Given the description of an element on the screen output the (x, y) to click on. 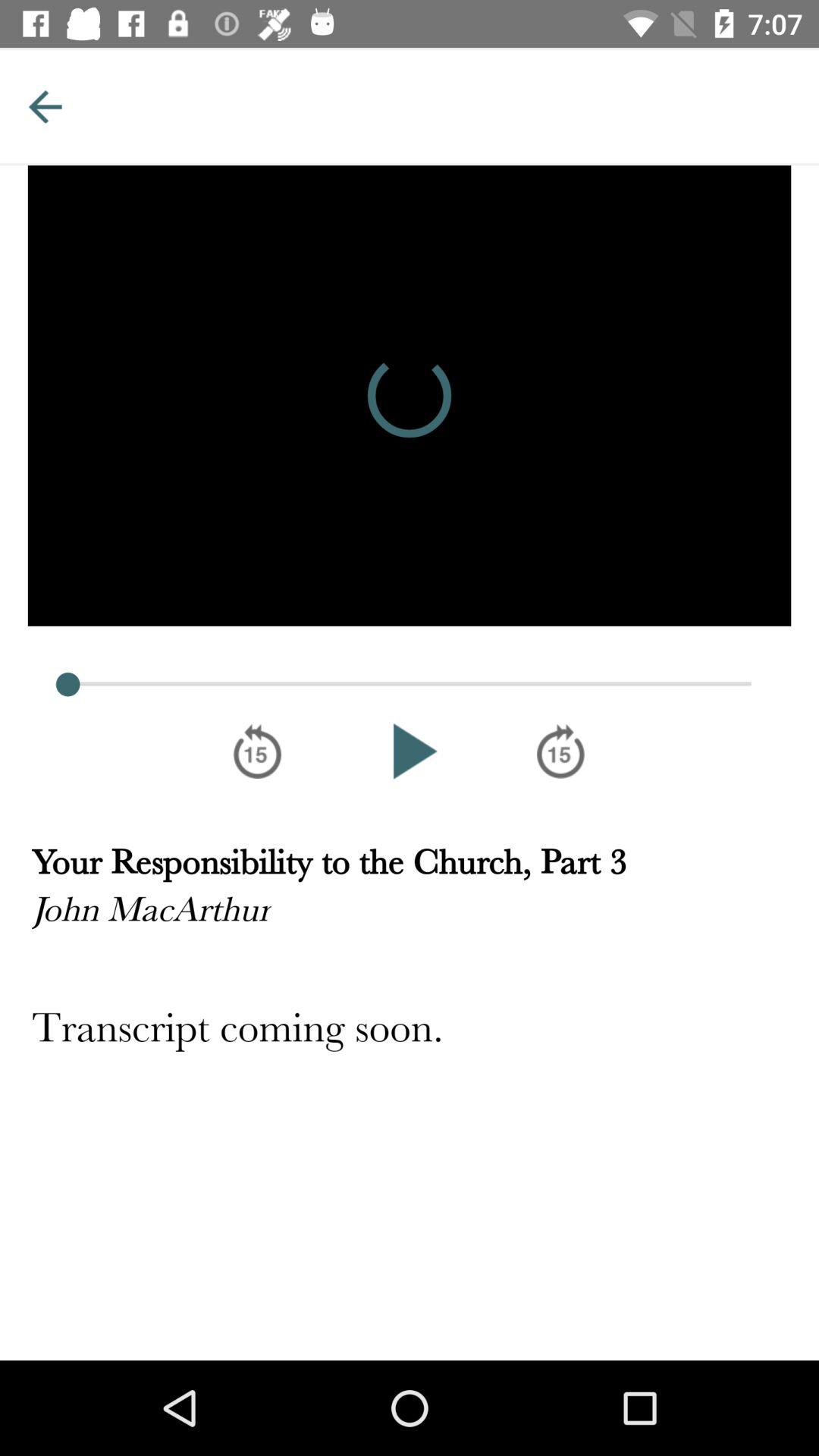
rewind 15 seconds (257, 751)
